Given the description of an element on the screen output the (x, y) to click on. 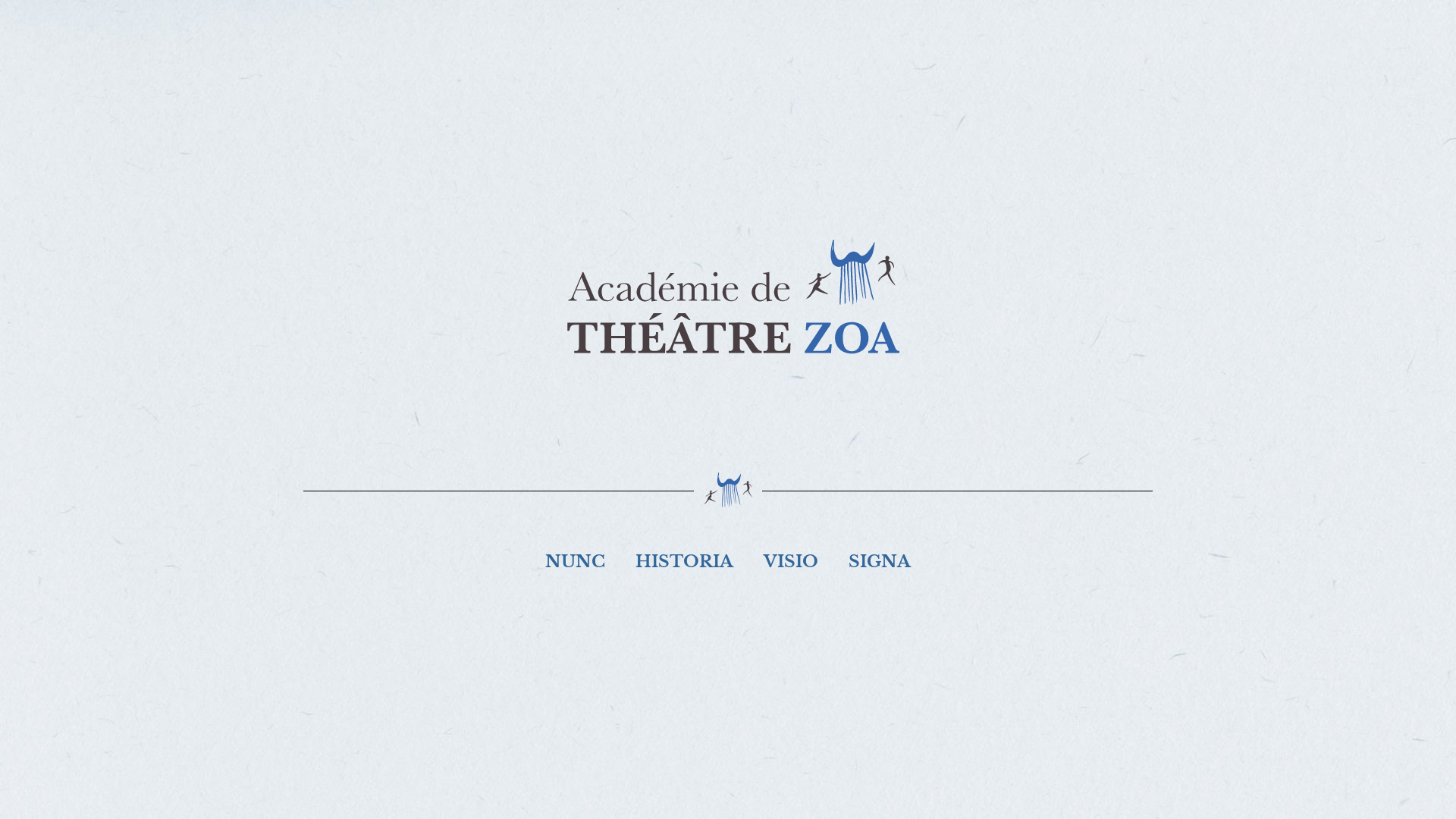
VISIO Element type: text (790, 561)
NUNC Element type: text (575, 561)
SIGNA Element type: text (879, 561)
HISTORIA Element type: text (684, 561)
